Given the description of an element on the screen output the (x, y) to click on. 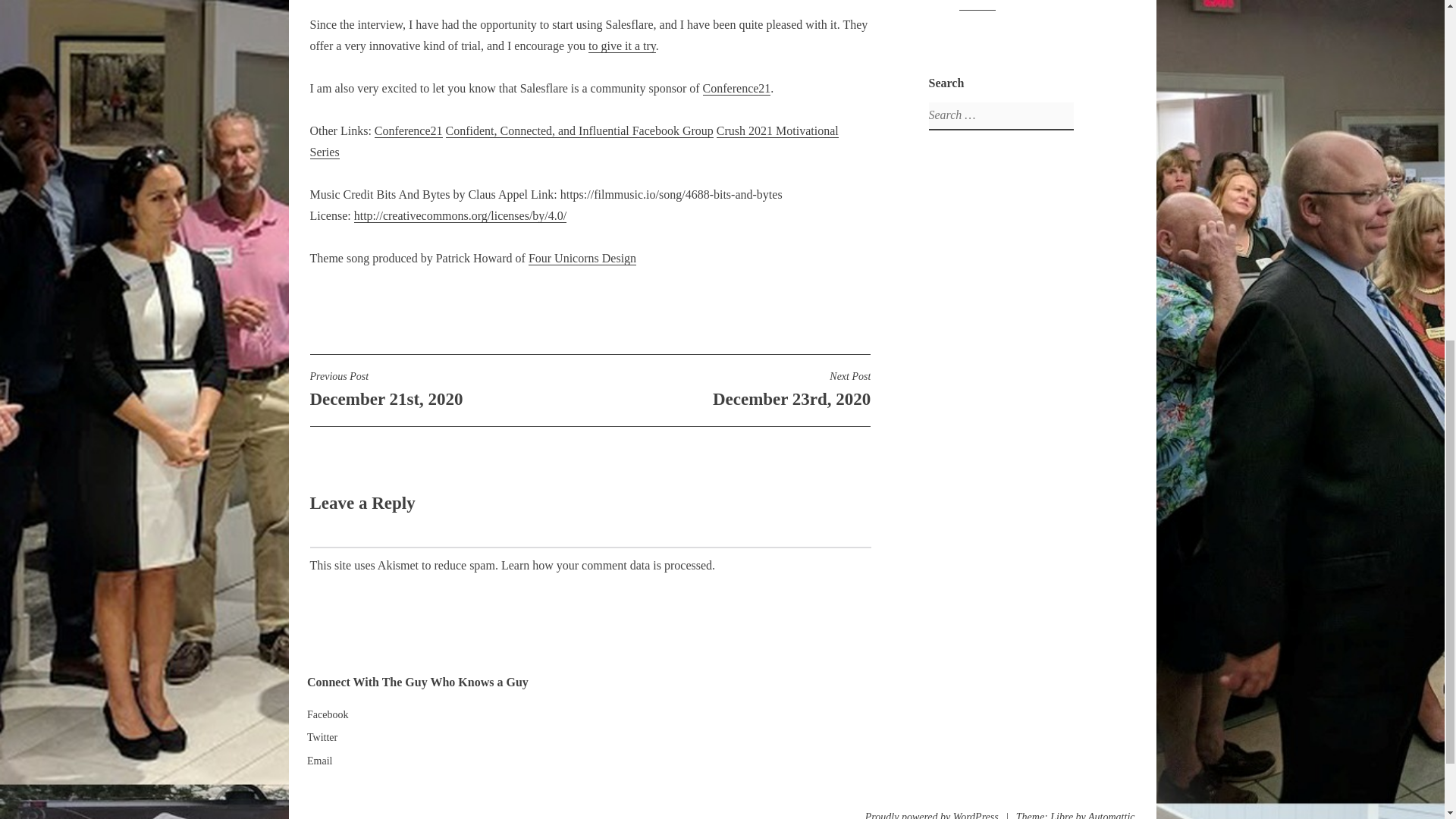
Email (729, 389)
Conference21 (319, 760)
Four Unicorns Design (408, 131)
Conference21 (582, 258)
Comment Form (737, 88)
Learn how your comment data is processed (573, 141)
Twitter (605, 564)
Confident, Connected, and Influential Facebook Group (322, 737)
to give it a try (579, 131)
Facebook (448, 389)
